Given the description of an element on the screen output the (x, y) to click on. 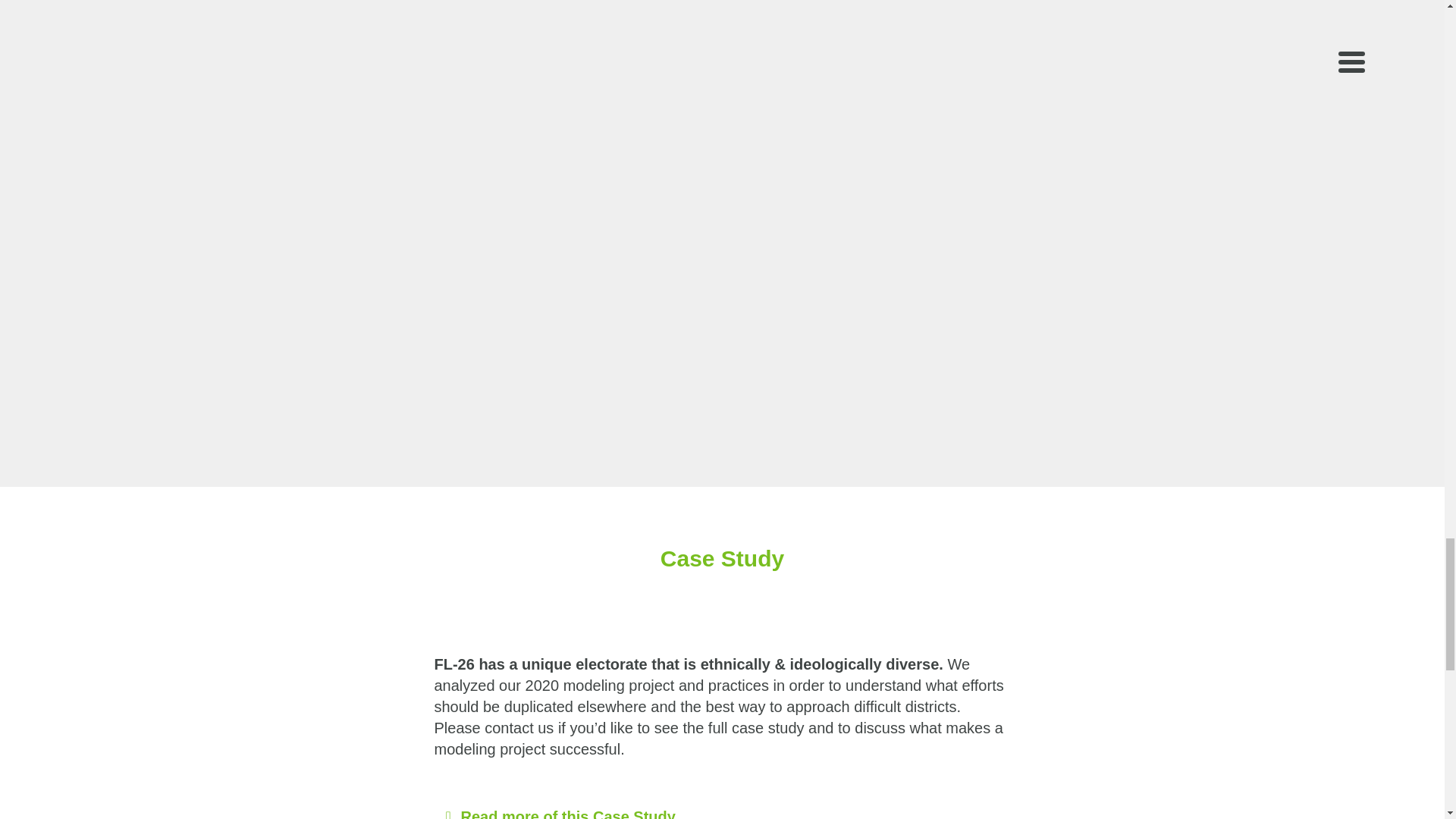
Read more of this Case Study (568, 813)
